Given the description of an element on the screen output the (x, y) to click on. 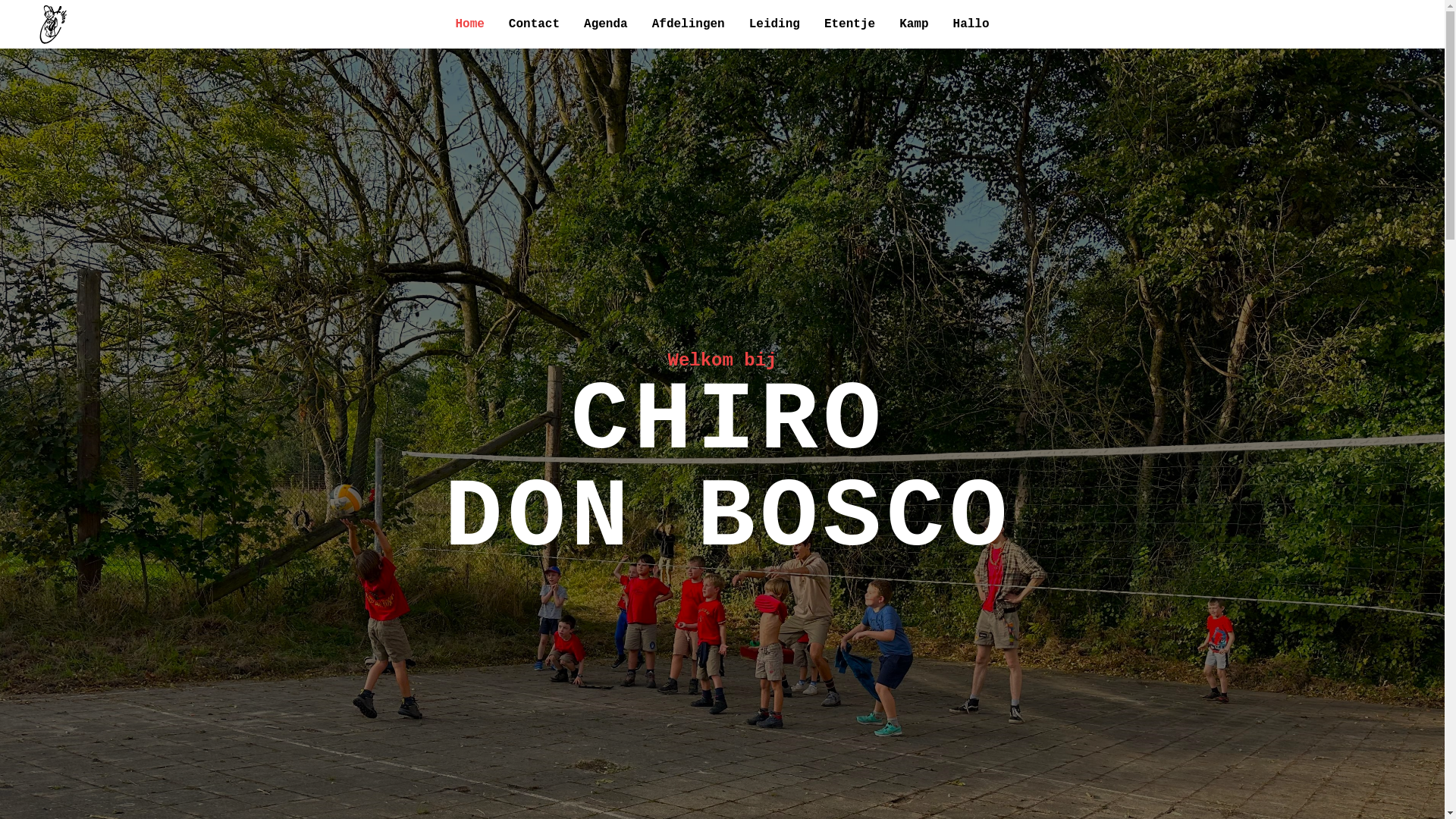
Etentje Element type: text (849, 24)
Kamp Element type: text (913, 24)
Afdelingen Element type: text (688, 24)
Leiding Element type: text (774, 24)
Contact Element type: text (533, 24)
Home Element type: text (469, 24)
Agenda Element type: text (605, 24)
Hallo Element type: text (971, 24)
